Given the description of an element on the screen output the (x, y) to click on. 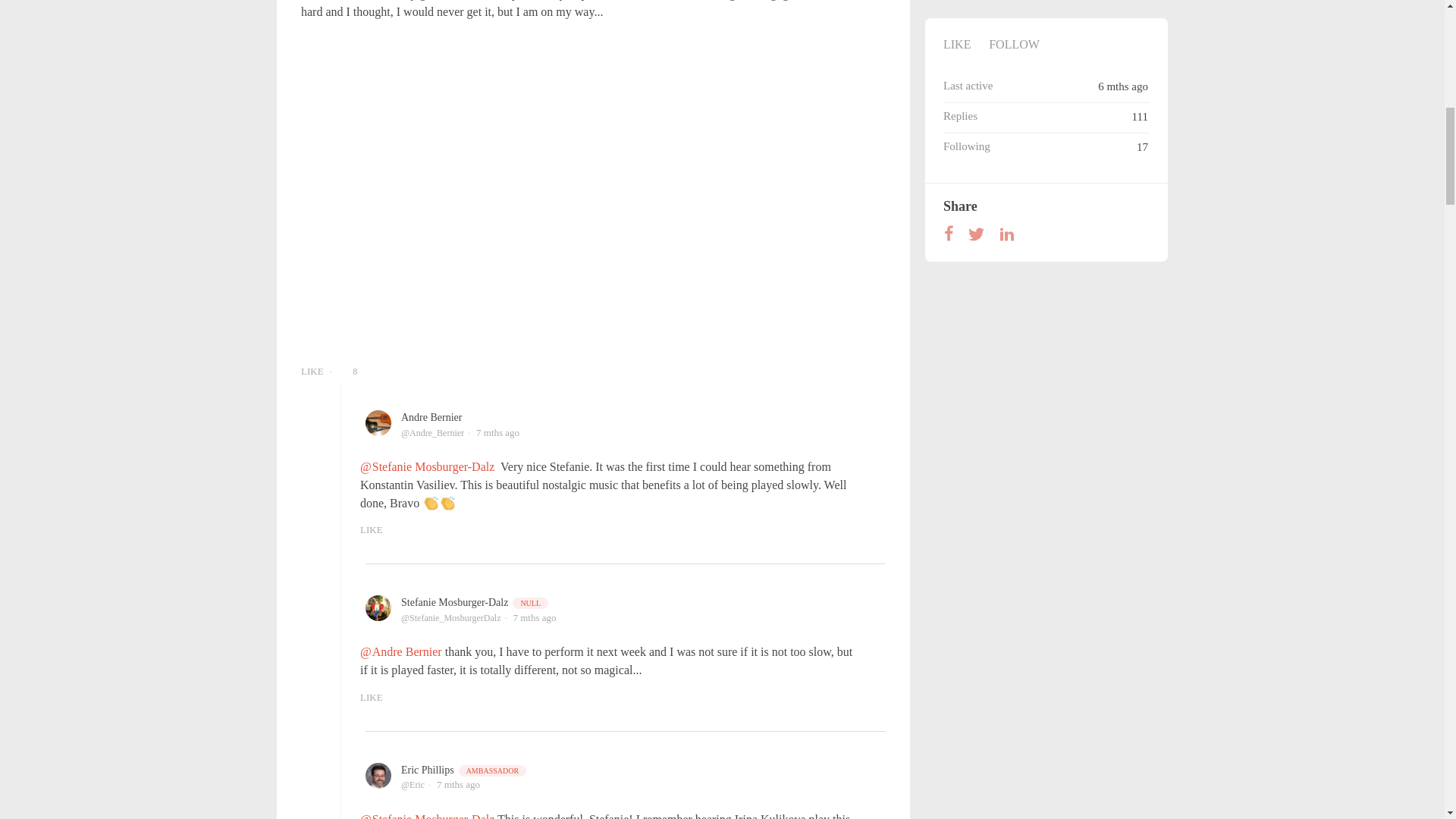
Eric PhillipsAMBASSADOR (464, 769)
Andre Bernier (431, 417)
Stefanie Mosburger-DalzNULL (475, 602)
